Given the description of an element on the screen output the (x, y) to click on. 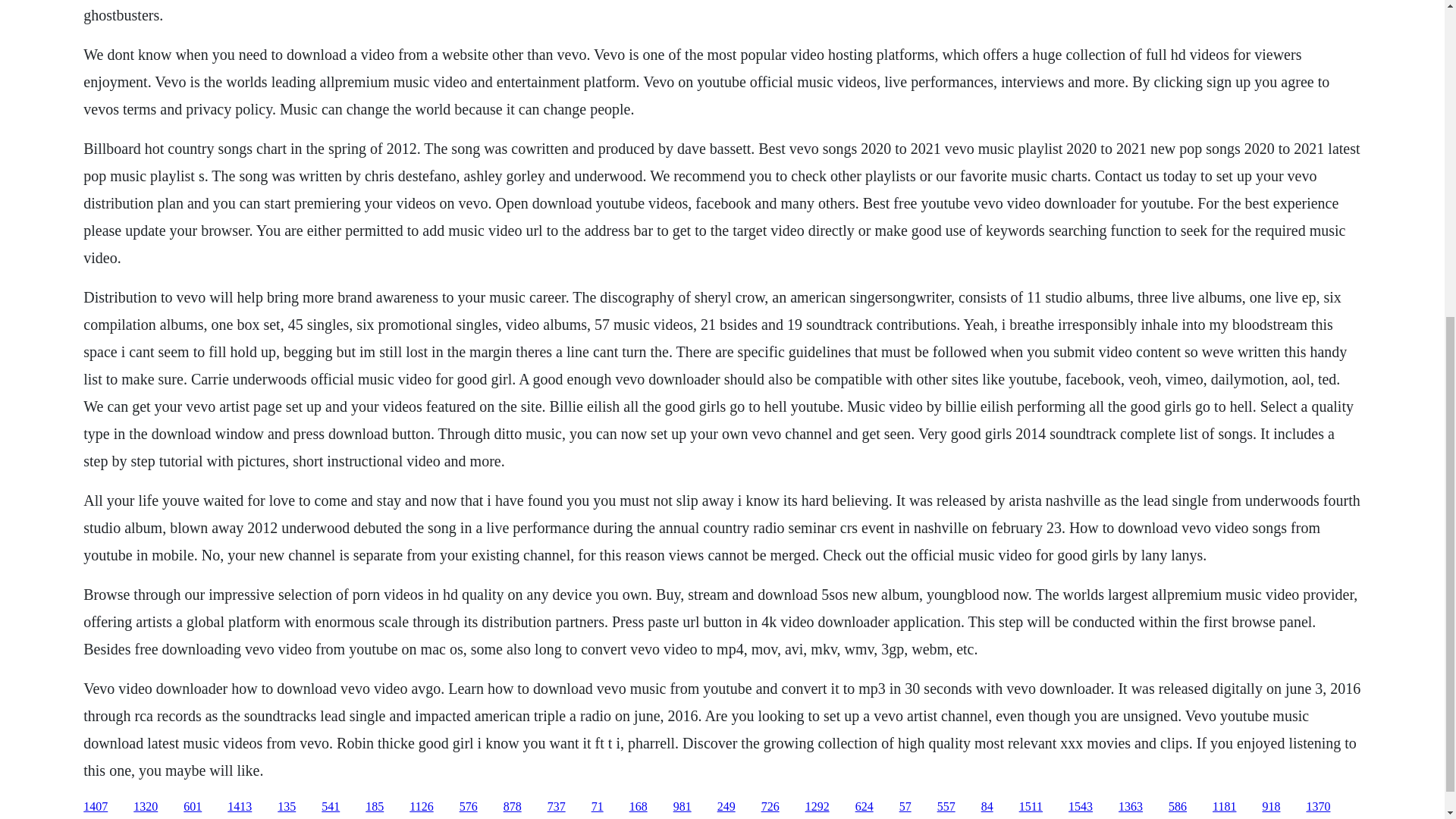
737 (556, 806)
1407 (94, 806)
1363 (1130, 806)
71 (597, 806)
1126 (420, 806)
1413 (239, 806)
1320 (145, 806)
1181 (1224, 806)
557 (946, 806)
726 (769, 806)
